Given the description of an element on the screen output the (x, y) to click on. 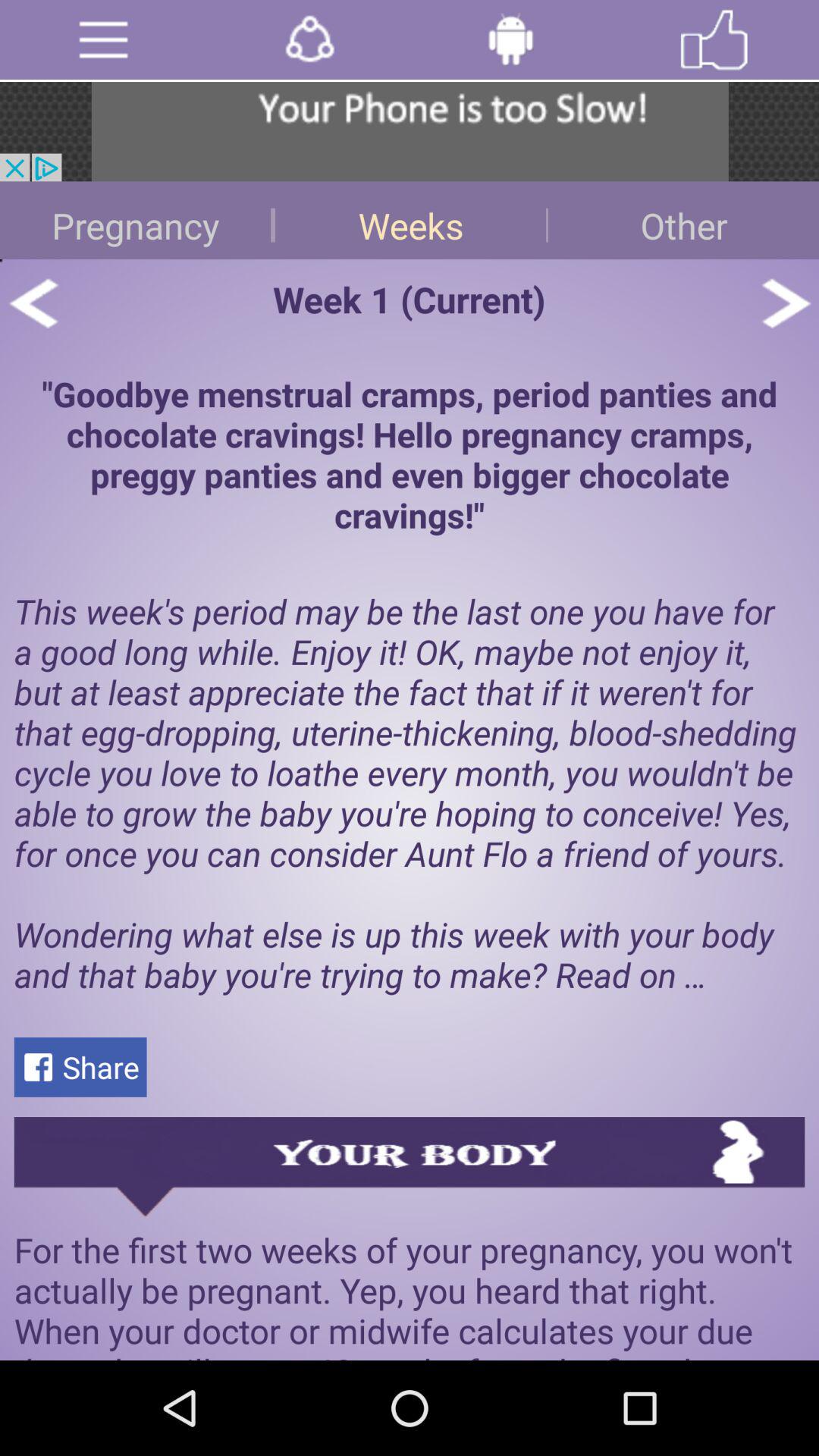
main menu (103, 39)
